Given the description of an element on the screen output the (x, y) to click on. 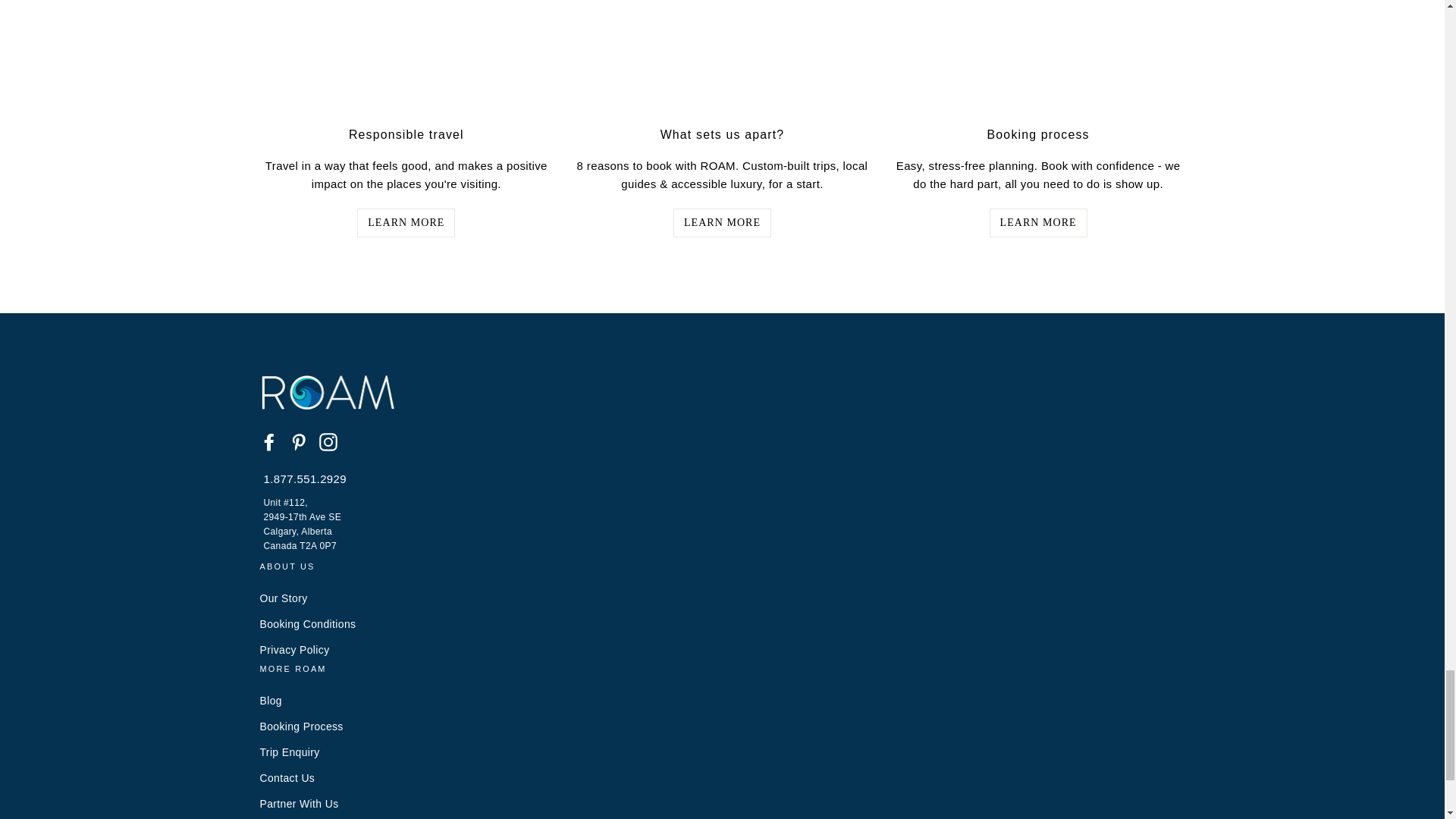
ROAM Wild Travel Co. on Instagram (327, 441)
ROAM Wild Travel Co. on Pinterest (298, 441)
ROAM Wild Travel Co. on Facebook (268, 441)
